Given the description of an element on the screen output the (x, y) to click on. 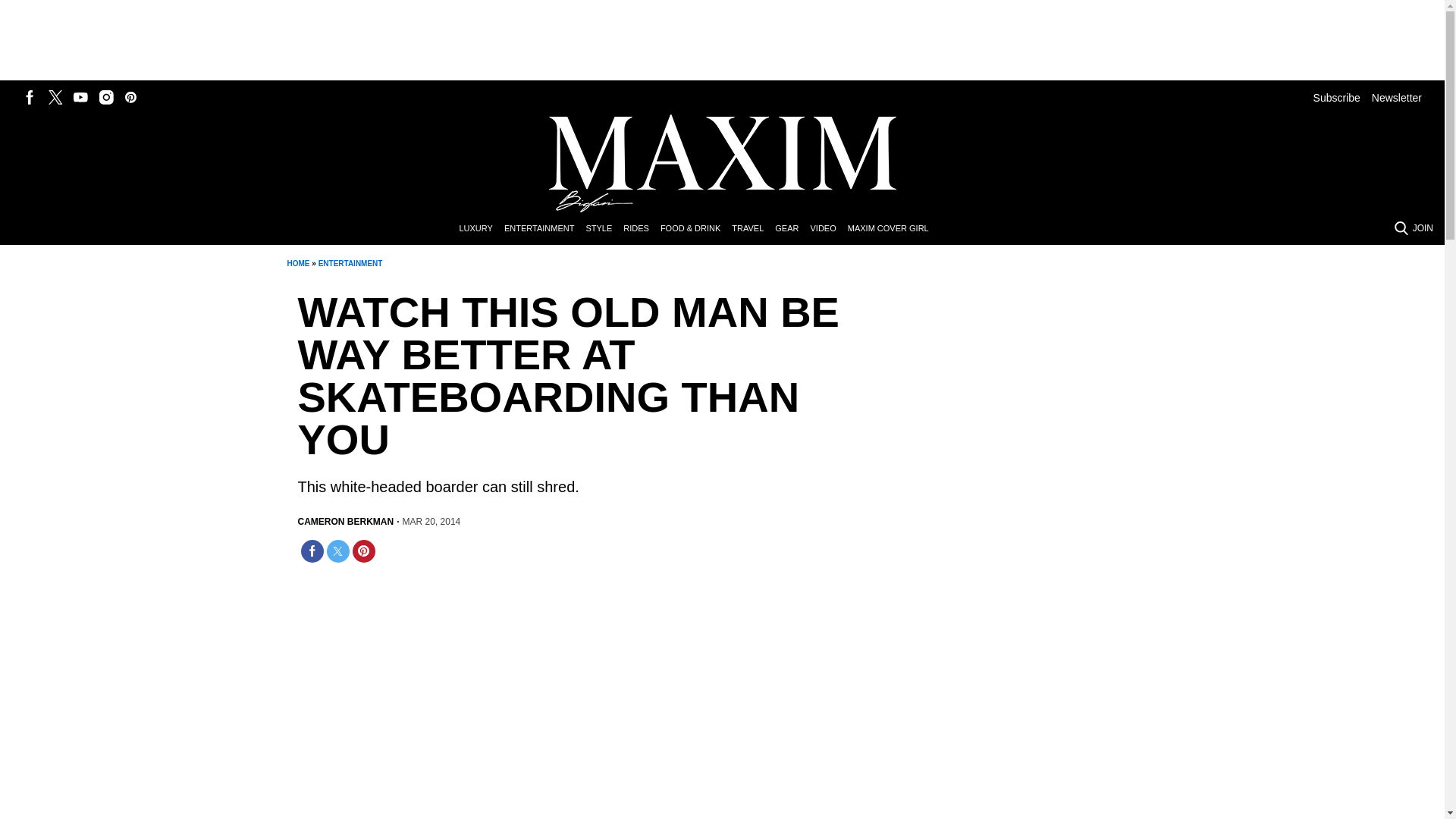
TRAVEL (753, 228)
ENTERTAINMENT (350, 263)
Follow us on Youtube (80, 97)
GEAR (791, 228)
Old man skateboard tricks - kick flip, sisi pop (487, 698)
LUXURY (480, 228)
STYLE (604, 228)
Share on Facebook (311, 550)
Newsletter (1396, 97)
ENTERTAINMENT (544, 228)
